Given the description of an element on the screen output the (x, y) to click on. 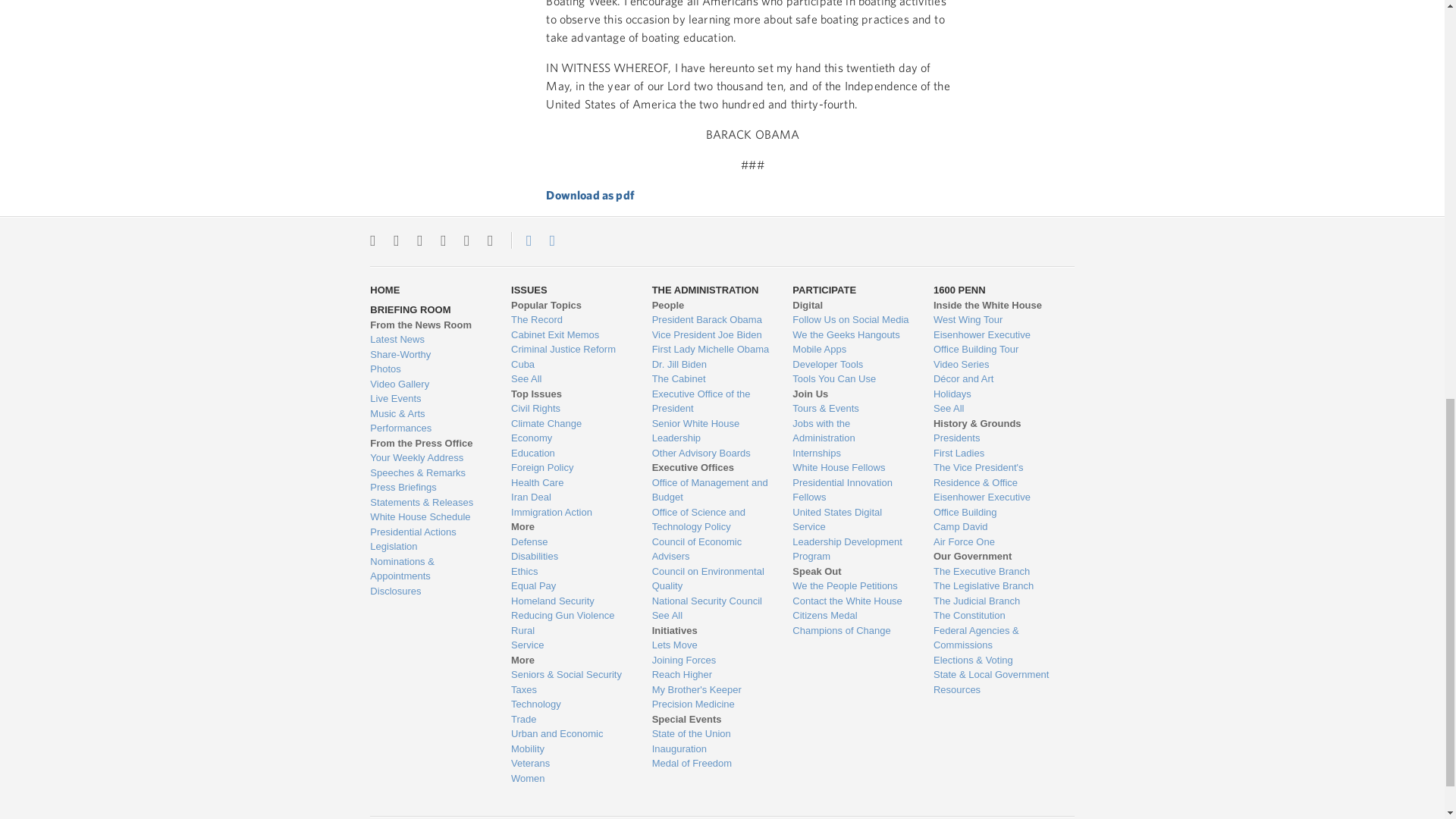
Contact the Whitehouse. (521, 239)
Read the latest blog posts from 1600 Pennsylvania Ave (428, 339)
View the photo of the day and other galleries (428, 368)
Check out the most popular infographics and videos (428, 354)
Watch behind-the-scenes videos and more (428, 384)
